Given the description of an element on the screen output the (x, y) to click on. 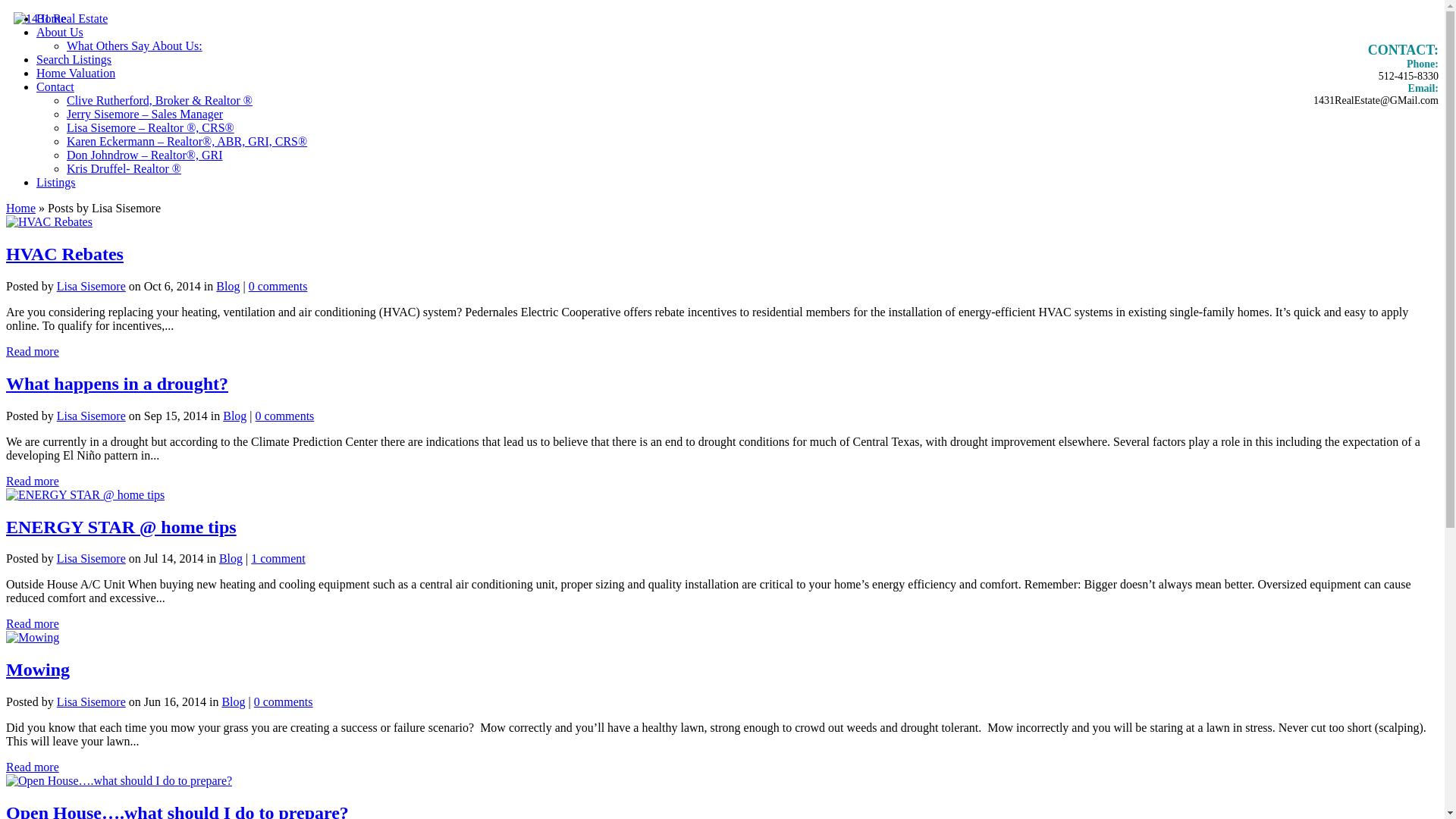
Listings Element type: text (55, 181)
Contact Element type: text (55, 86)
Blog Element type: text (232, 701)
ENERGY STAR @ home tips Element type: text (121, 526)
What Others Say About Us: Element type: text (134, 45)
What happens in a drought? Element type: text (117, 383)
Mowing Element type: text (37, 669)
Read more Element type: text (32, 766)
Read more Element type: text (32, 480)
Lisa Sisemore Element type: text (90, 285)
Blog Element type: text (227, 285)
Search Listings Element type: text (73, 59)
Read more Element type: text (32, 623)
Lisa Sisemore Element type: text (90, 415)
Home Valuation Element type: text (75, 72)
0 comments Element type: text (284, 415)
0 comments Element type: text (277, 285)
Blog Element type: text (230, 558)
Home Element type: text (20, 207)
1 comment Element type: text (278, 558)
0 comments Element type: text (283, 701)
Blog Element type: text (234, 415)
Read more Element type: text (32, 351)
About Us Element type: text (59, 31)
Lisa Sisemore Element type: text (90, 701)
Home Element type: text (50, 18)
Lisa Sisemore Element type: text (90, 558)
HVAC Rebates Element type: text (64, 253)
